Given the description of an element on the screen output the (x, y) to click on. 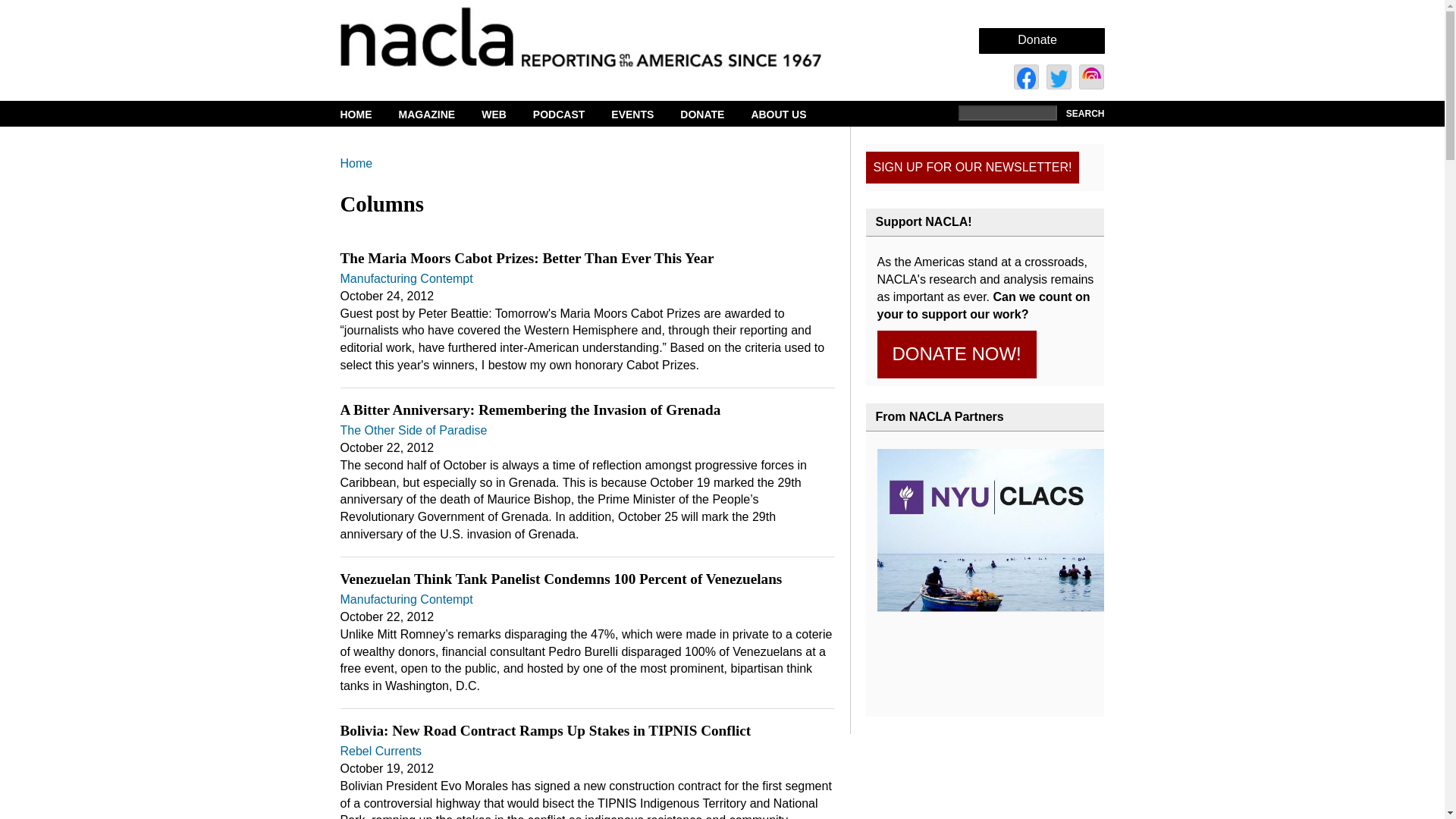
Search (1083, 113)
Search (1083, 113)
Home (607, 36)
DONATE (711, 114)
Donate (1037, 39)
HOME (366, 114)
